Given the description of an element on the screen output the (x, y) to click on. 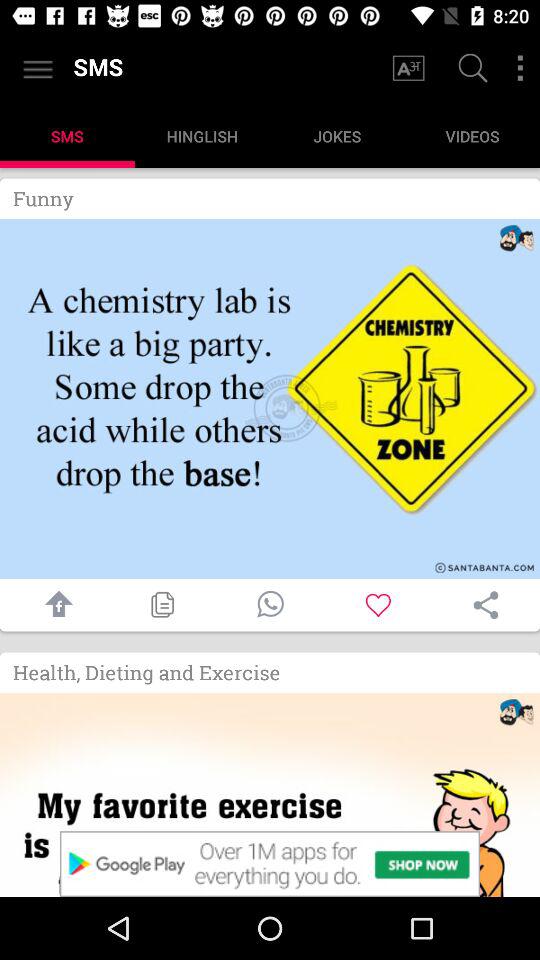
call (270, 604)
